Given the description of an element on the screen output the (x, y) to click on. 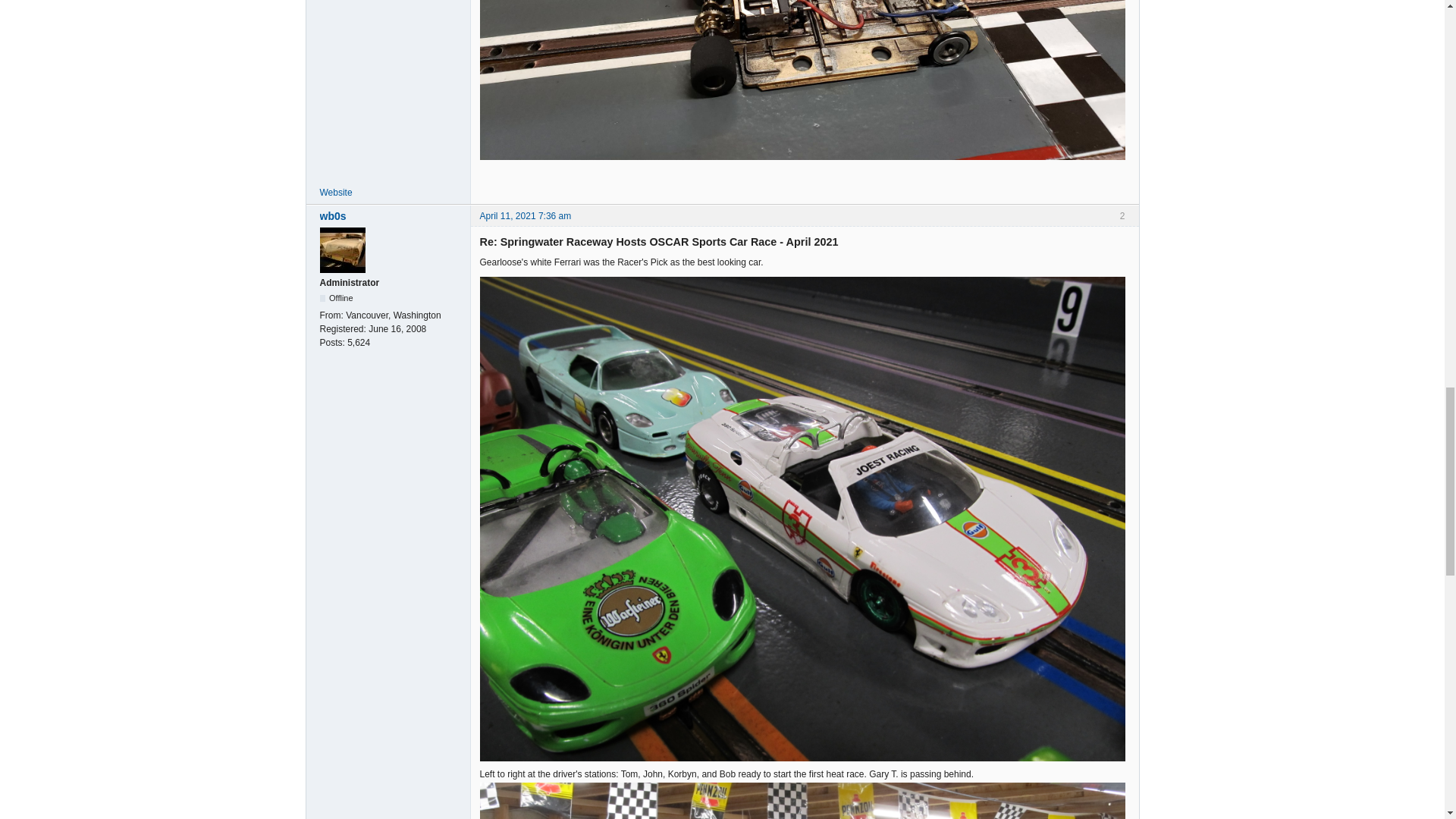
April 11, 2021 7:36 am (524, 215)
Permanent link to this post (524, 215)
Website (336, 192)
Go to wb0s's profile (390, 215)
wb0s (390, 215)
